Given the description of an element on the screen output the (x, y) to click on. 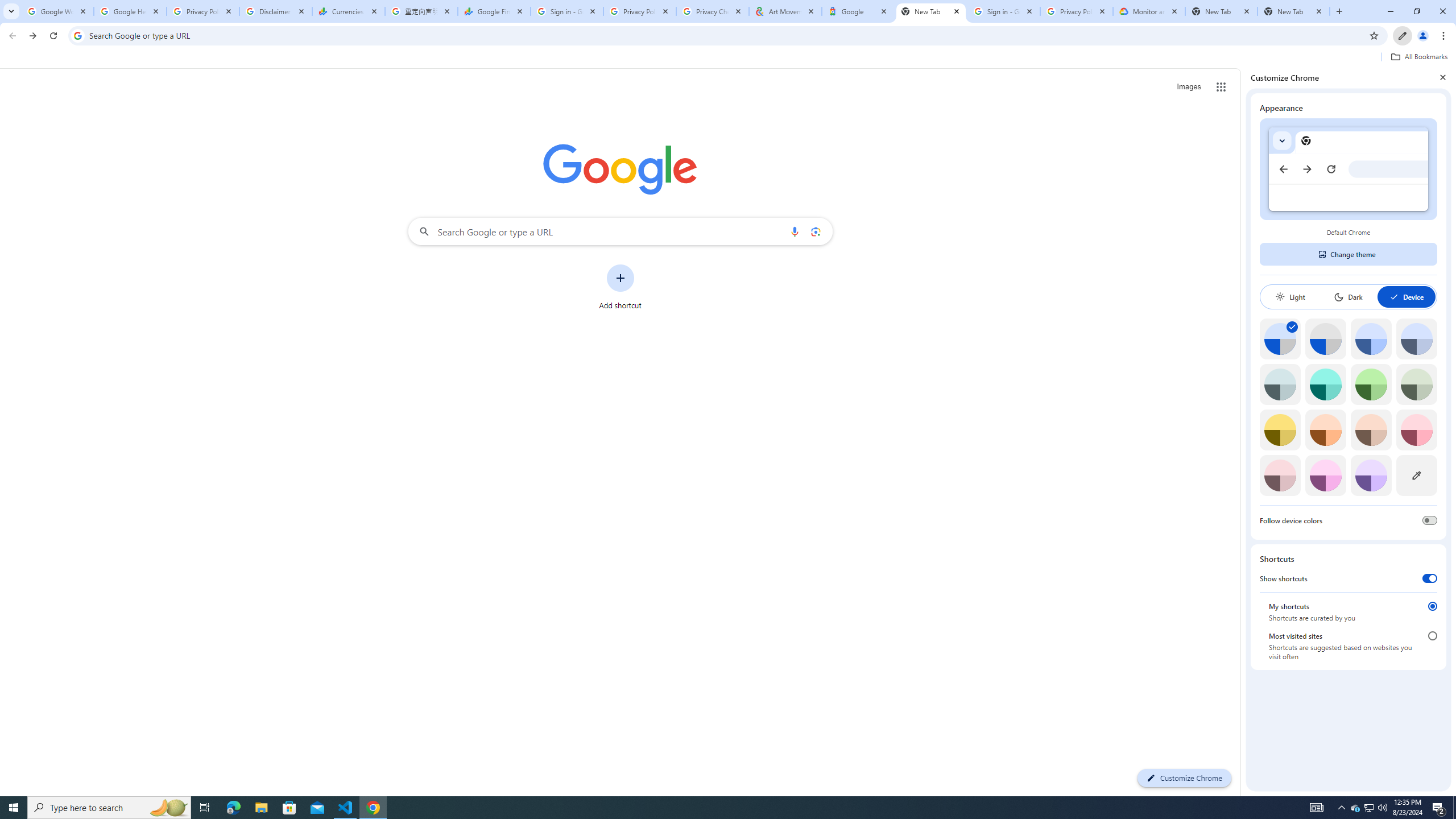
Most visited sites (1432, 635)
New Tab (1221, 11)
Light (1289, 296)
Currencies - Google Finance (348, 11)
Sign in - Google Accounts (566, 11)
Viridian (1416, 383)
Aqua (1325, 383)
